Given the description of an element on the screen output the (x, y) to click on. 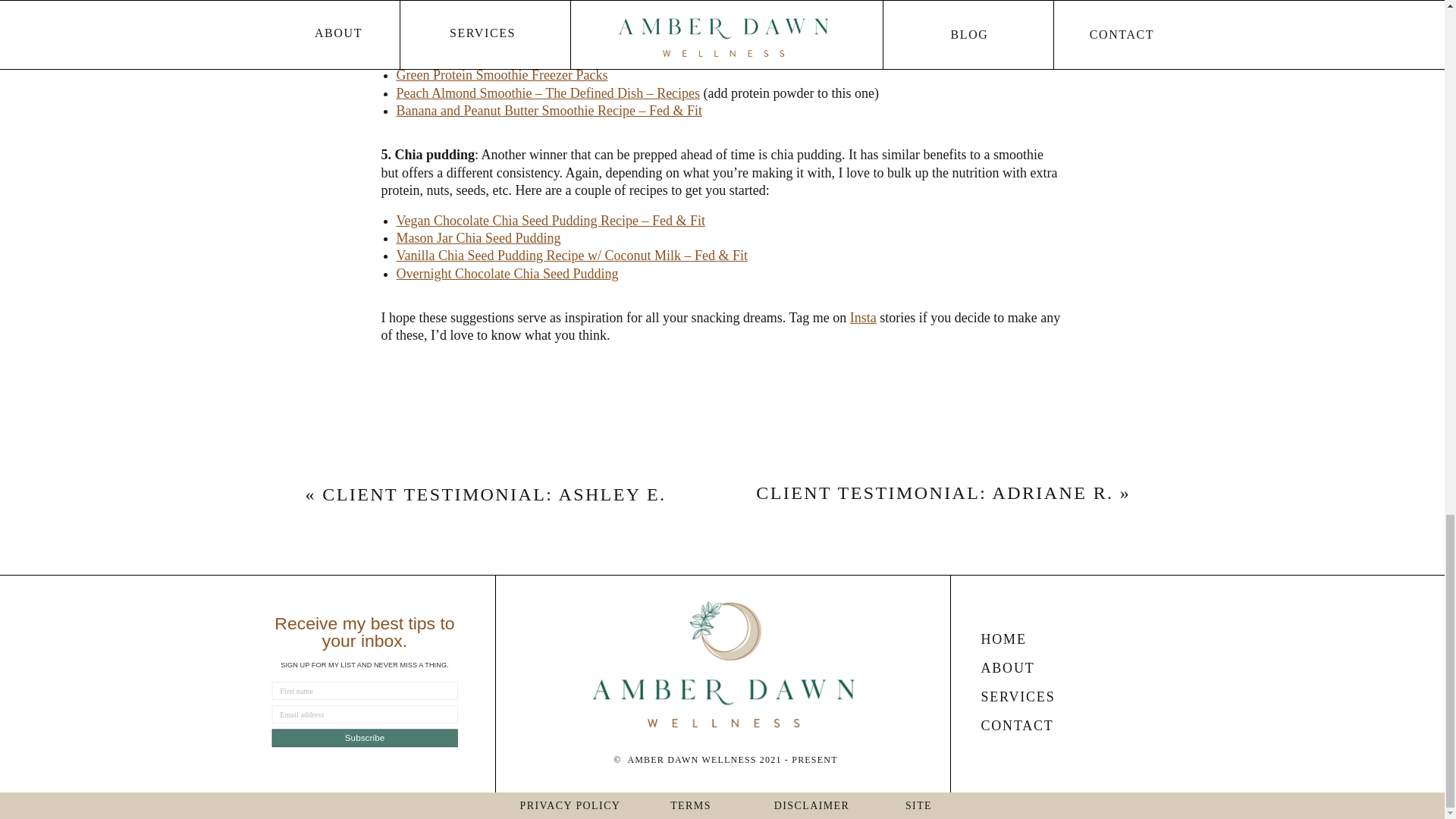
Overnight Chocolate Chia Seed Pudding (506, 273)
Insta (863, 317)
Mason Jar Chia Seed Pudding (478, 237)
SERVICES (1048, 703)
SITE (918, 808)
CLIENT TESTIMONIAL: ADRIANE R. (934, 492)
Green Protein Smoothie Freezer Packs (501, 74)
CLIENT TESTIMONIAL: ASHLEY E. (493, 494)
TERMS (690, 808)
PRIVACY POLICY (569, 805)
DISCLAIMER (811, 808)
HOME (1048, 645)
ABOUT (1048, 674)
CONTACT (1048, 732)
Subscribe (452, 746)
